Given the description of an element on the screen output the (x, y) to click on. 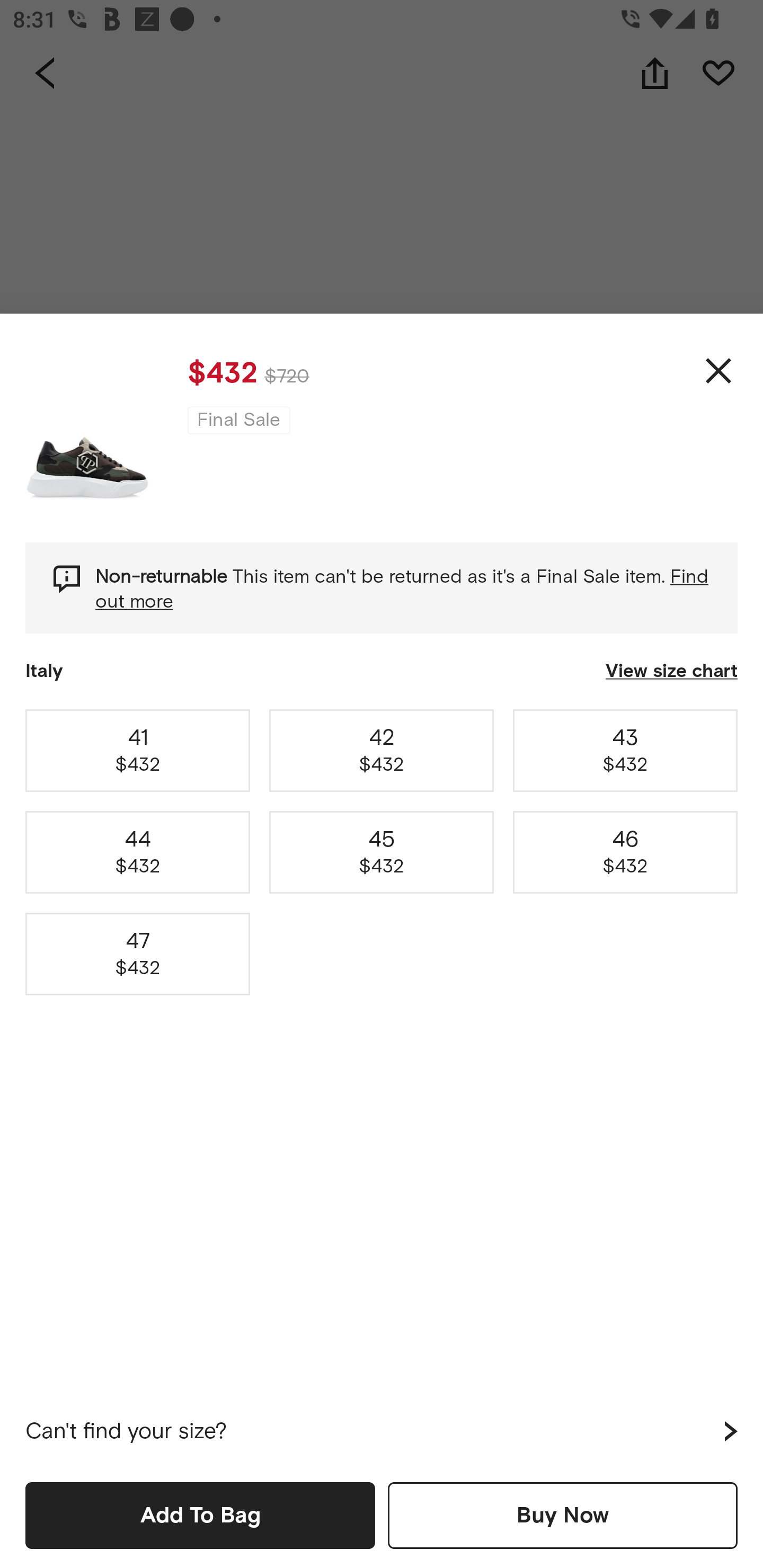
41 $432 (137, 749)
42 $432 (381, 749)
43 $432 (624, 749)
44 $432 (137, 851)
45 $432 (381, 851)
46 $432 (624, 851)
47 $432 (137, 953)
Can't find your size? (381, 1431)
Add To Bag (200, 1515)
Buy Now (562, 1515)
